Given the description of an element on the screen output the (x, y) to click on. 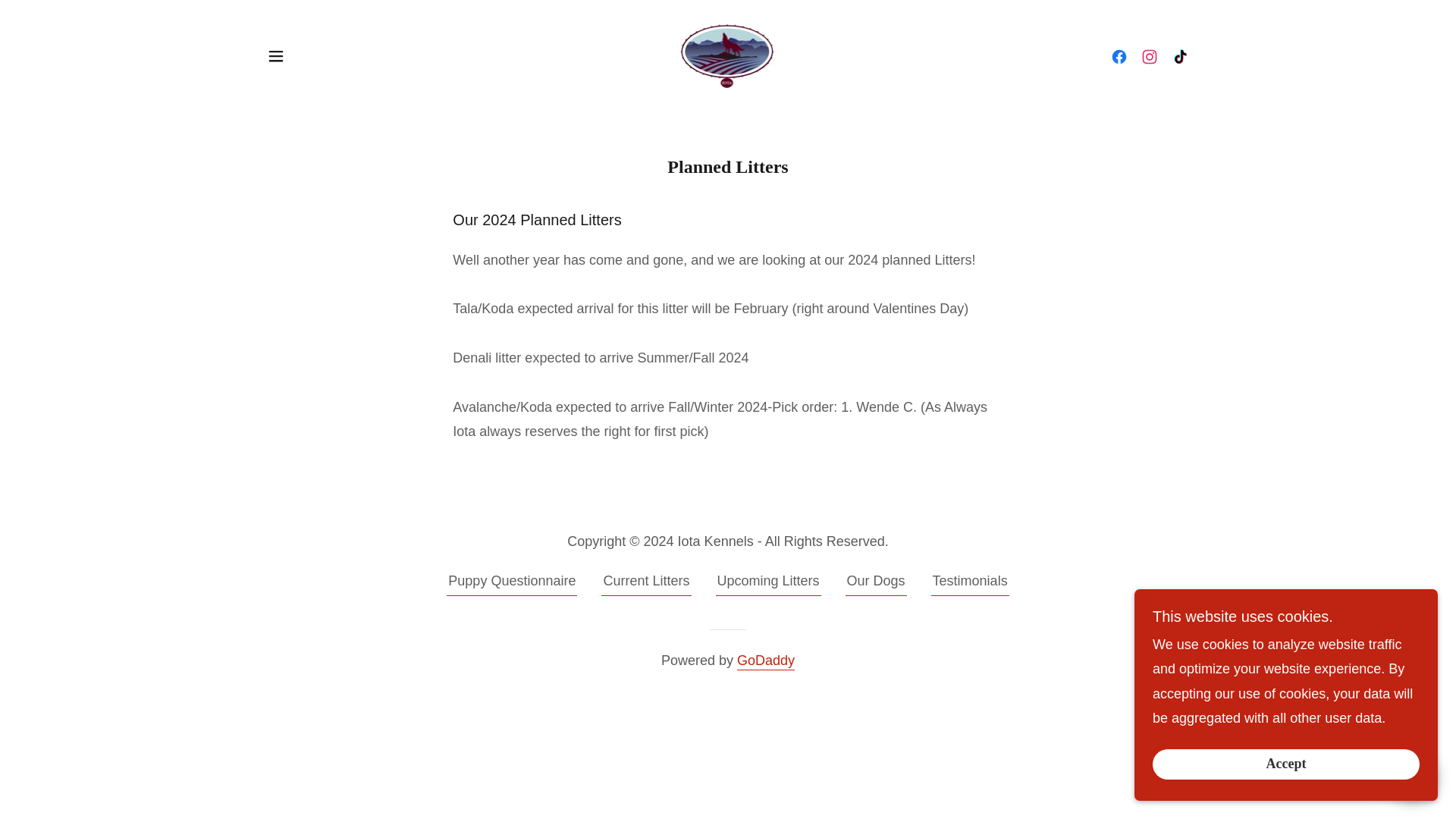
Accept (1286, 764)
Upcoming Litters (768, 583)
Iota Kennels (727, 55)
Testimonials (970, 583)
GoDaddy (765, 661)
Puppy Questionnaire (511, 583)
Current Litters (645, 583)
Our Dogs (876, 583)
